Given the description of an element on the screen output the (x, y) to click on. 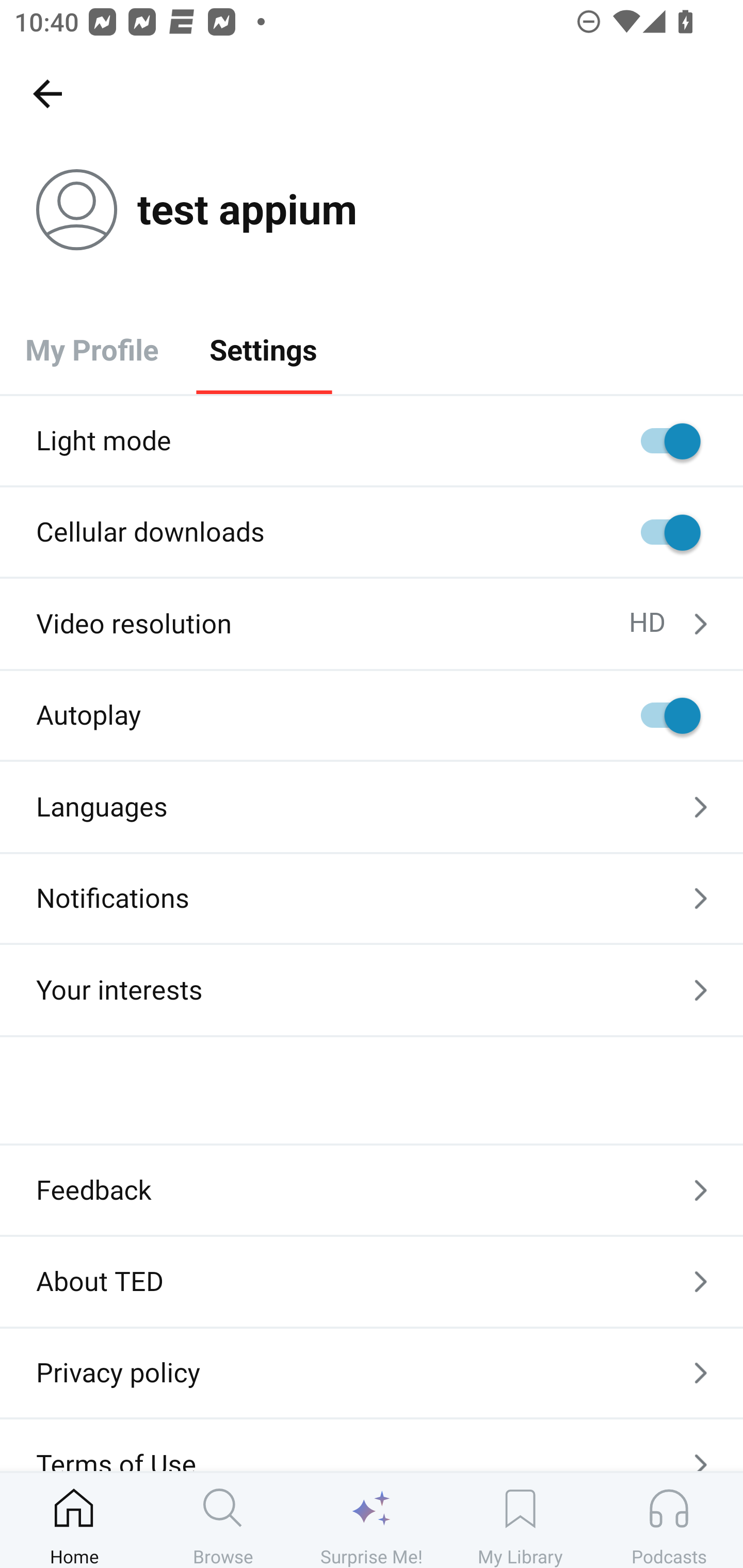
Home, back (47, 92)
My Profile (92, 348)
Settings (263, 348)
Video resolution HD (371, 623)
Languages (371, 806)
Notifications (371, 897)
Your interests (371, 989)
Feedback (371, 1190)
About TED (371, 1281)
Privacy policy (371, 1372)
Home (74, 1520)
Browse (222, 1520)
Surprise Me! (371, 1520)
My Library (519, 1520)
Podcasts (668, 1520)
